Given the description of an element on the screen output the (x, y) to click on. 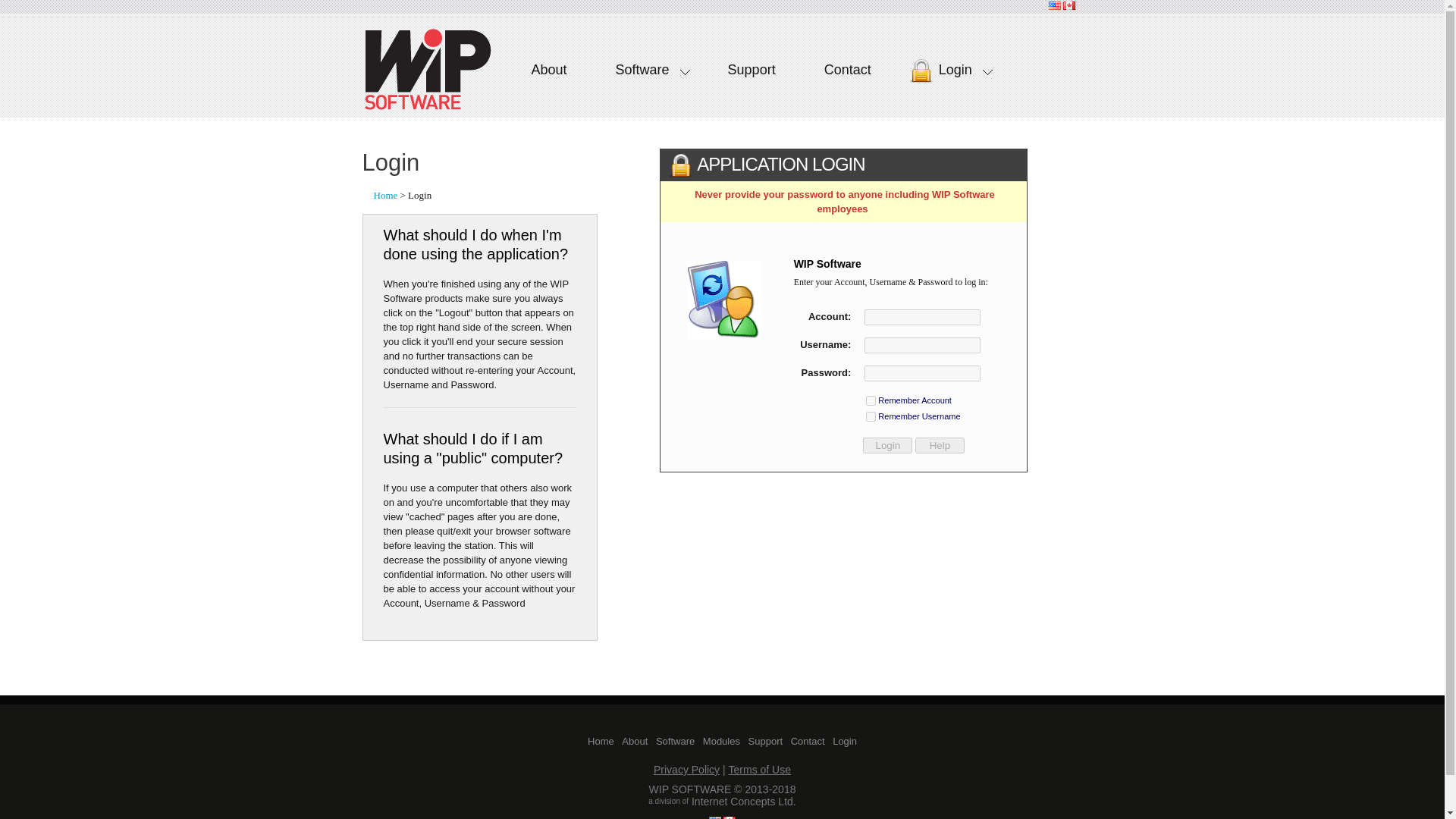
Login (844, 740)
Software (675, 740)
Help (939, 445)
Support (765, 740)
Contact (847, 70)
Privacy Policy (686, 769)
Home (601, 740)
on (871, 416)
Login (887, 445)
About (548, 70)
